Given the description of an element on the screen output the (x, y) to click on. 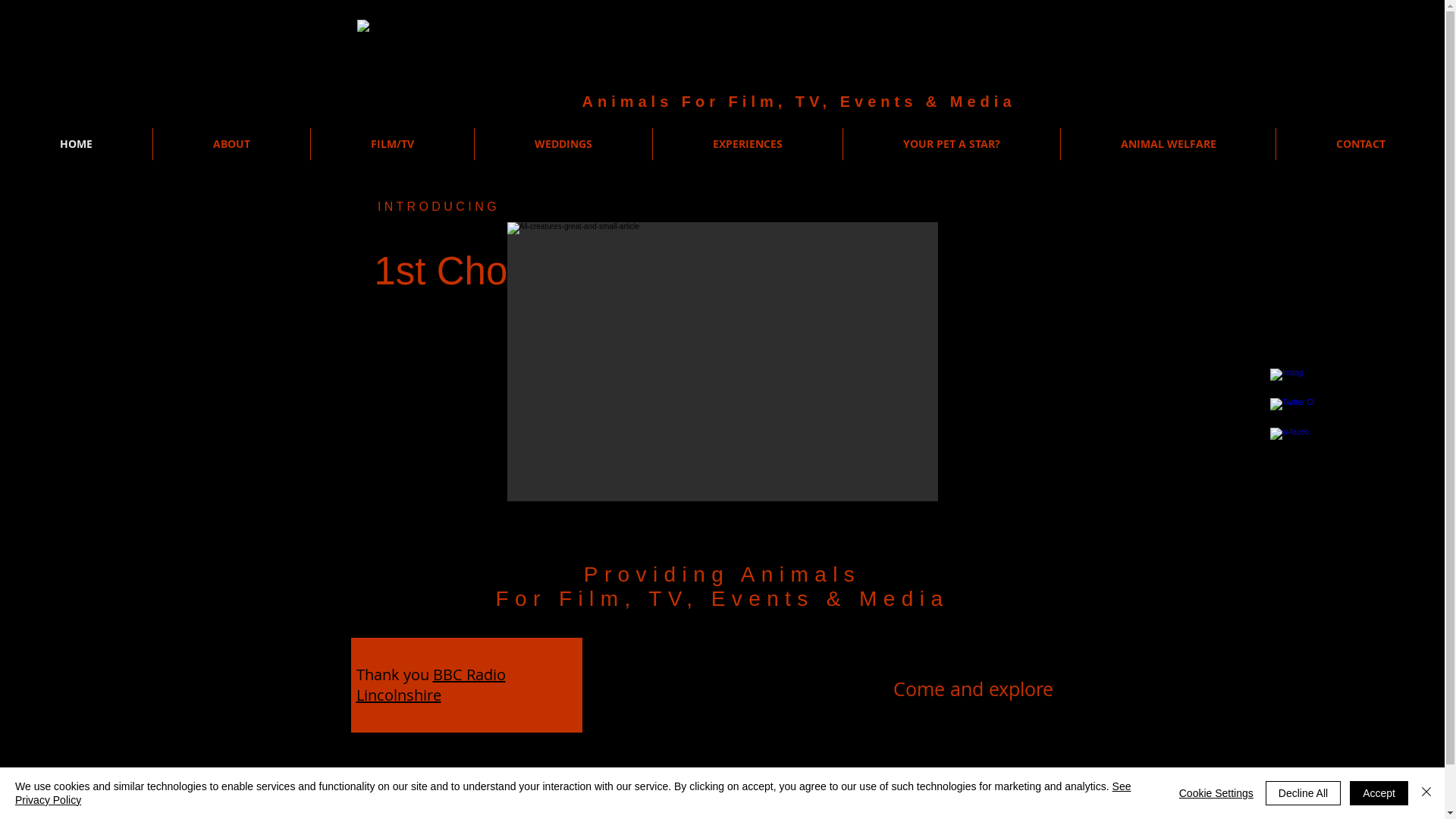
Accept Element type: text (1378, 793)
Decline All Element type: text (1302, 793)
EXPERIENCES Element type: text (747, 144)
WEDDINGS Element type: text (563, 144)
CONTACT Element type: text (1360, 144)
BBC Radio Lincolnshire Element type: text (430, 684)
See Privacy Policy Element type: text (572, 793)
ABOUT Element type: text (231, 144)
FILM/TV Element type: text (391, 144)
Come and explore Element type: text (972, 688)
ANIMAL WELFARE Element type: text (1167, 144)
HOME Element type: text (76, 144)
YOUR PET A STAR? Element type: text (951, 144)
